Given the description of an element on the screen output the (x, y) to click on. 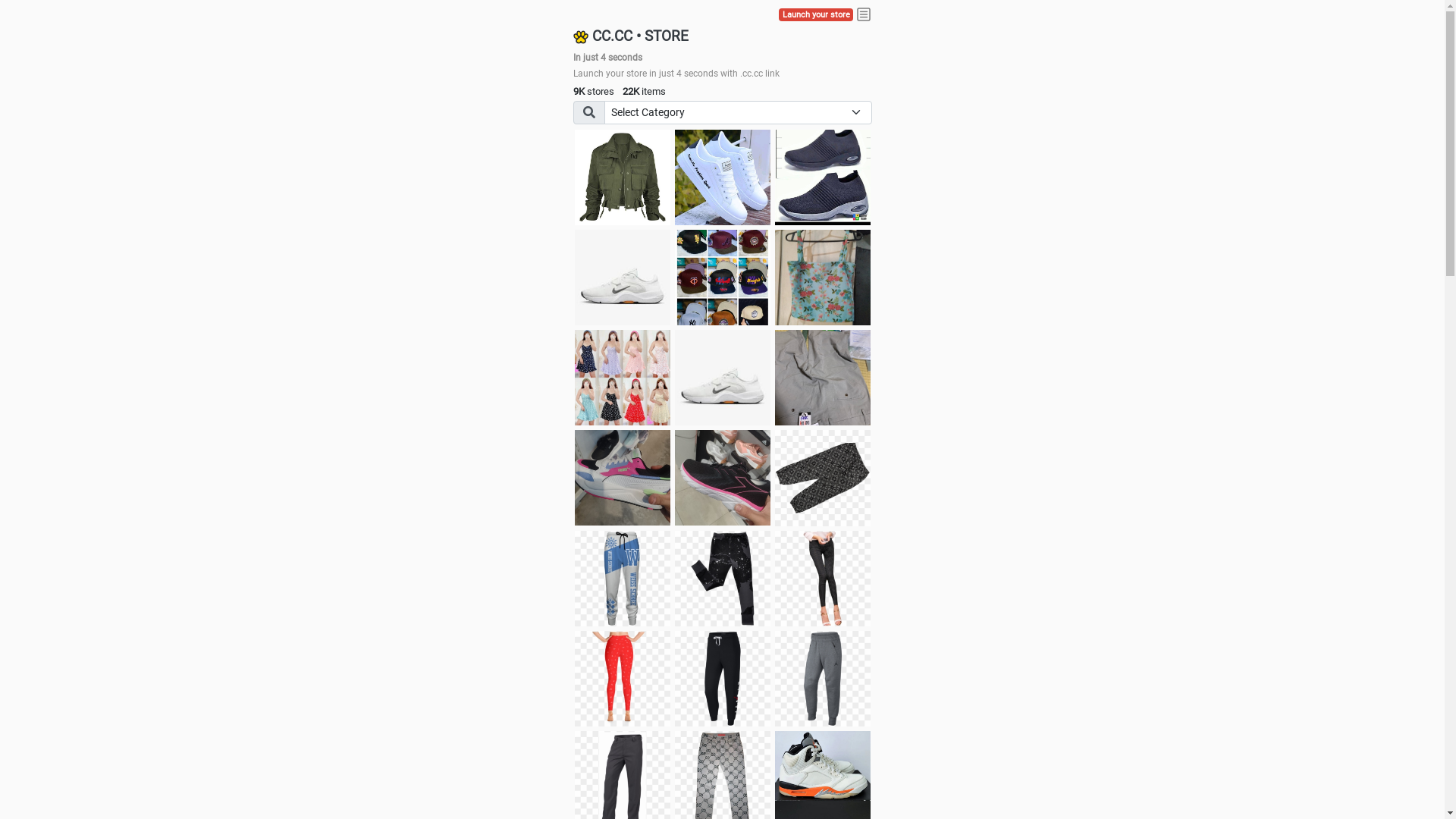
Shoes Element type: hover (722, 377)
Ukay cloth Element type: hover (822, 277)
white shoes Element type: hover (722, 177)
Zapatillas pumas Element type: hover (622, 477)
Dress/square nect top Element type: hover (622, 377)
Things we need Element type: hover (722, 277)
Pant Element type: hover (722, 578)
Pant Element type: hover (722, 678)
Pant Element type: hover (622, 578)
Pant Element type: hover (622, 678)
Shoes for boys Element type: hover (622, 277)
jacket Element type: hover (622, 177)
Pant Element type: hover (822, 578)
Pant Element type: hover (822, 678)
shoes for boys Element type: hover (822, 177)
Zapatillas Element type: hover (722, 477)
Launch your store Element type: text (815, 14)
Short pant Element type: hover (822, 477)
